Given the description of an element on the screen output the (x, y) to click on. 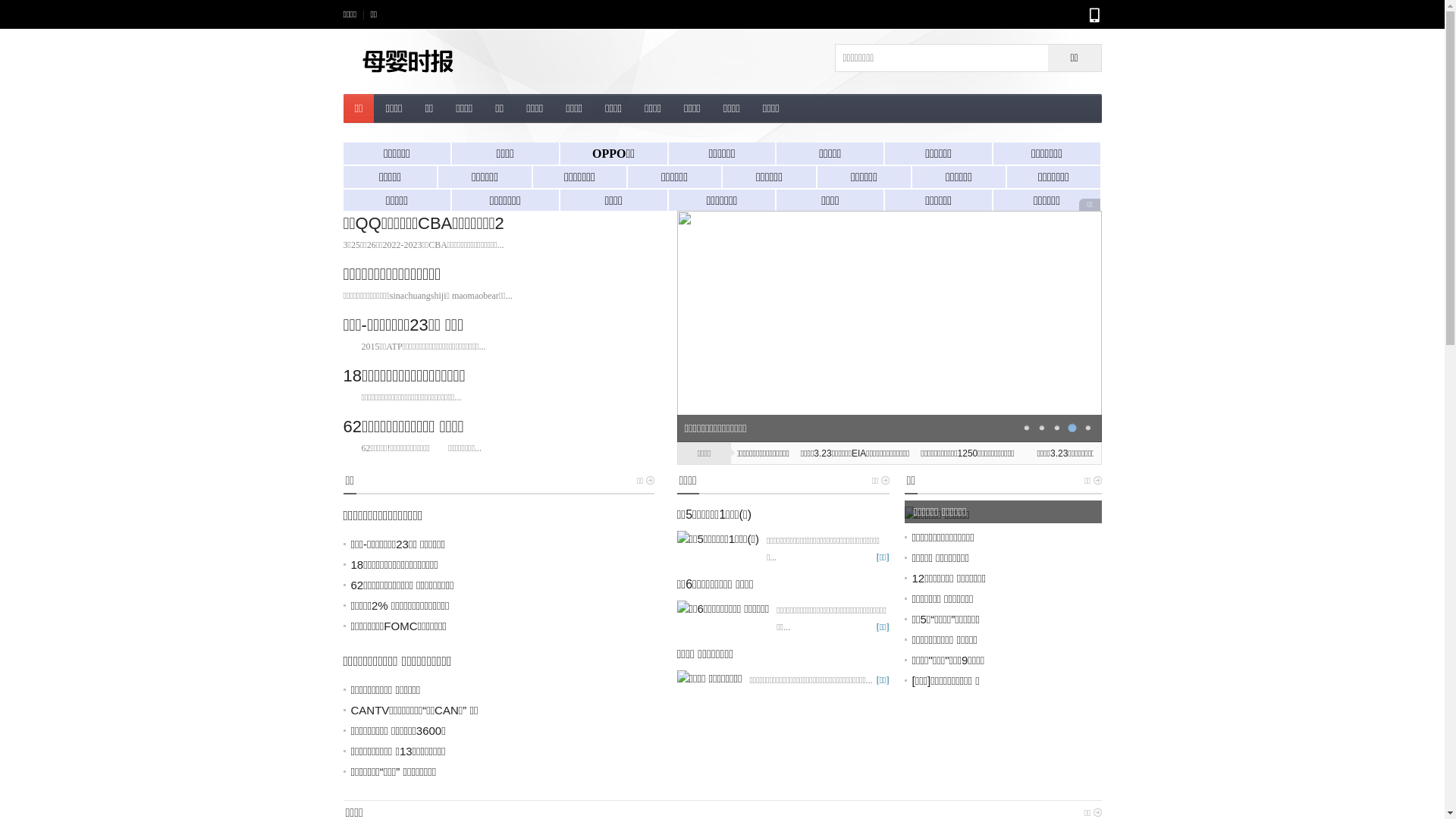
5 Element type: text (1087, 427)
1 Element type: text (1026, 427)
3 Element type: text (1056, 427)
4 Element type: text (1071, 427)
2 Element type: text (1041, 427)
